Given the description of an element on the screen output the (x, y) to click on. 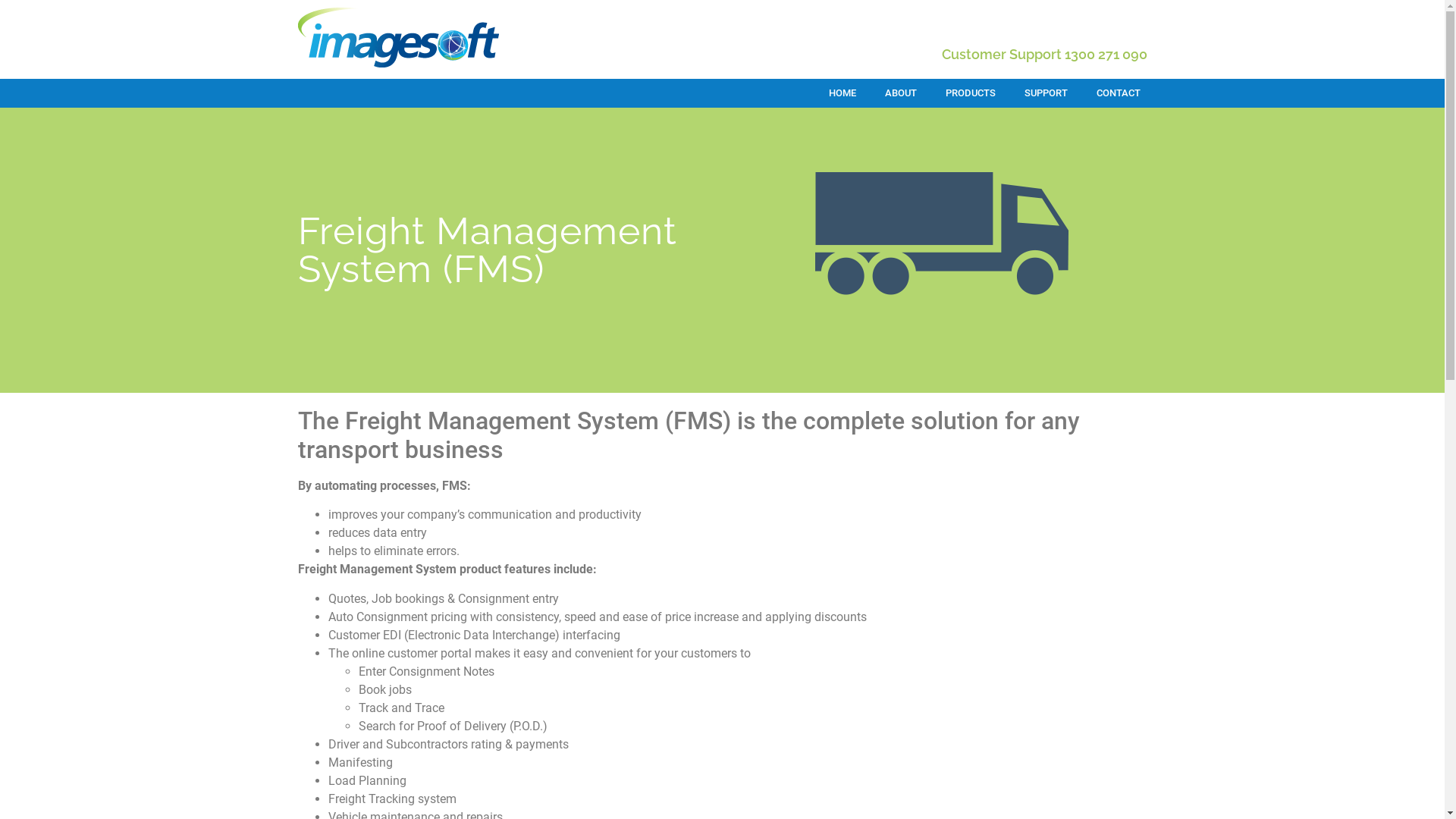
CONTACT Element type: text (1117, 92)
HOME Element type: text (842, 92)
ABOUT Element type: text (900, 92)
PRODUCTS Element type: text (970, 92)
SUPPORT Element type: text (1046, 92)
